Given the description of an element on the screen output the (x, y) to click on. 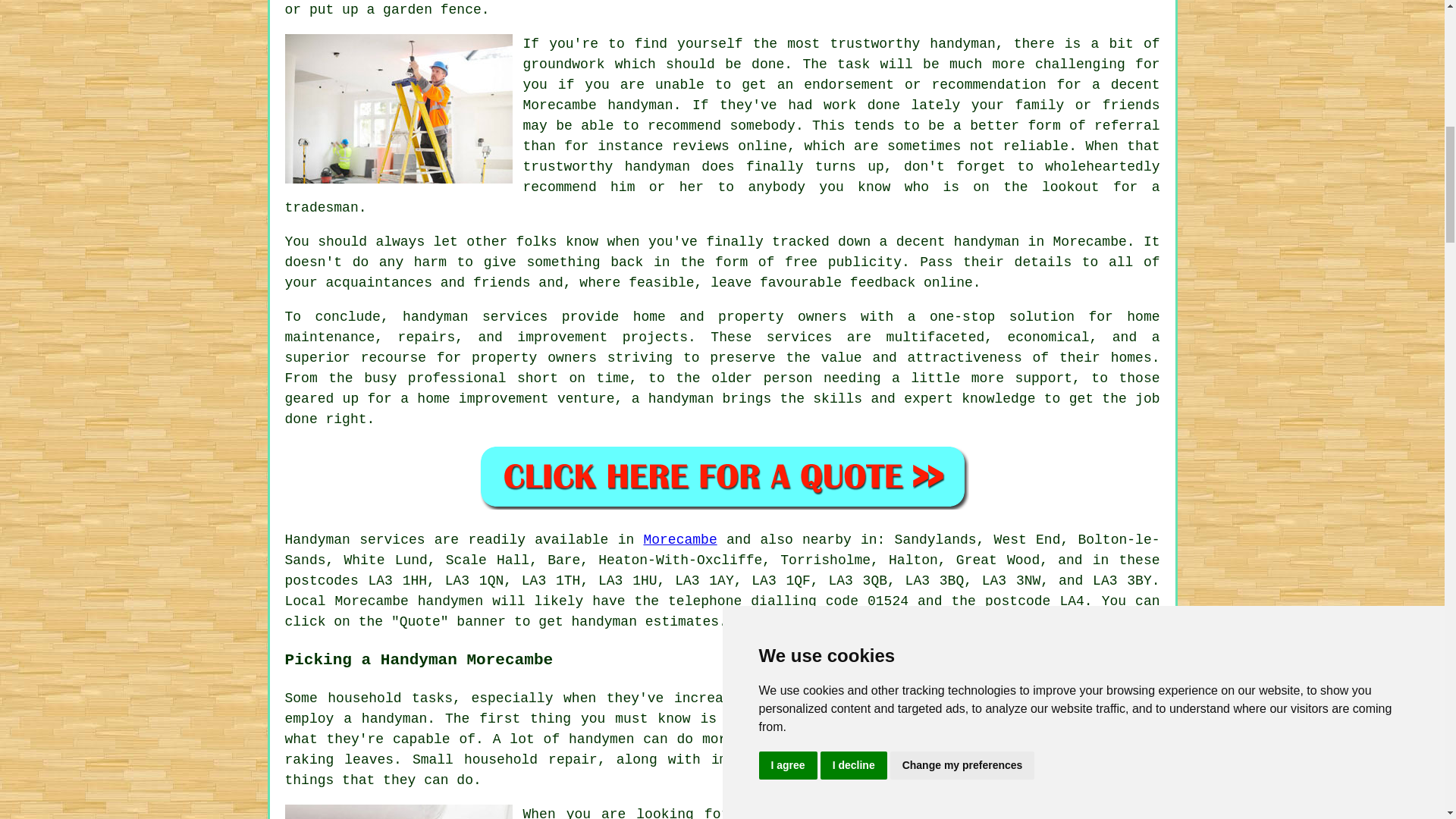
household tasks (389, 698)
handyman services (475, 316)
handymen (450, 601)
handyman (604, 621)
Handyman services (355, 539)
